Given the description of an element on the screen output the (x, y) to click on. 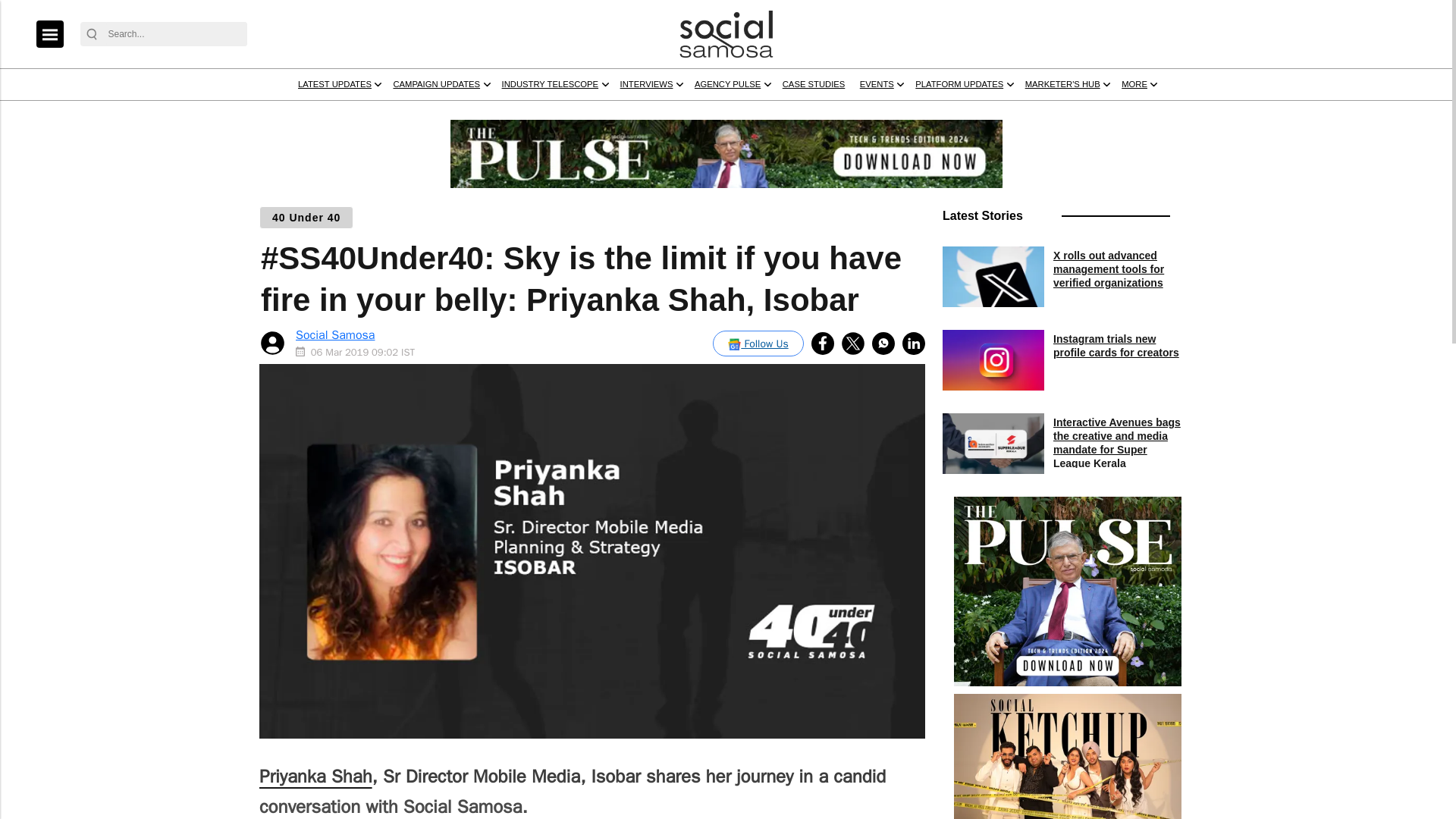
EVENTS (1168, 113)
CAMPAIGN UPDATES (582, 113)
AGENCY PULSE (969, 113)
PLATFORM UPDATES (1278, 113)
INTERVIEWS (861, 113)
CASE STUDIES (1085, 113)
INDUSTRY TELESCOPE (732, 113)
LATEST UPDATES (446, 113)
